Given the description of an element on the screen output the (x, y) to click on. 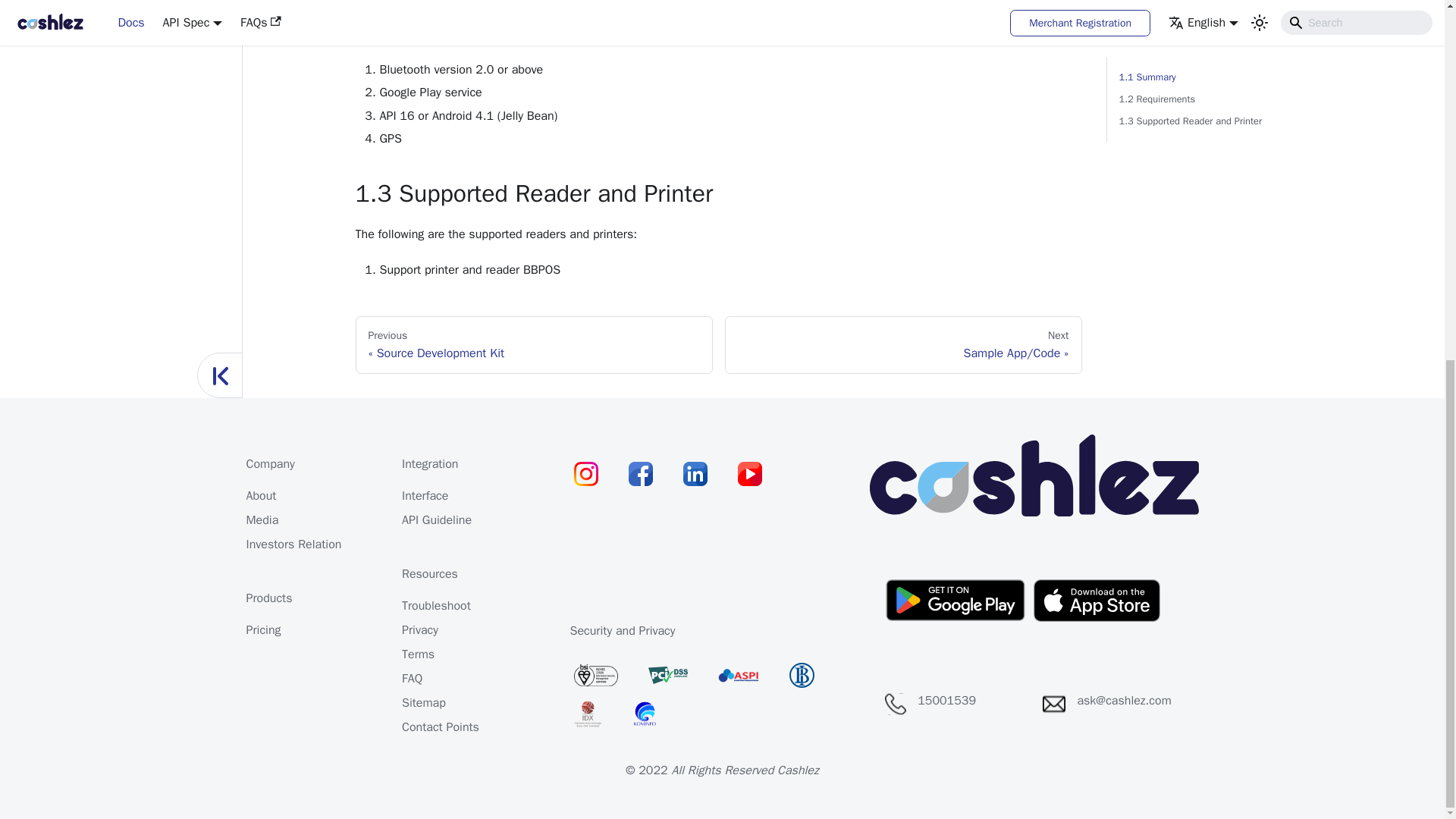
Collapse sidebar (533, 344)
